Given the description of an element on the screen output the (x, y) to click on. 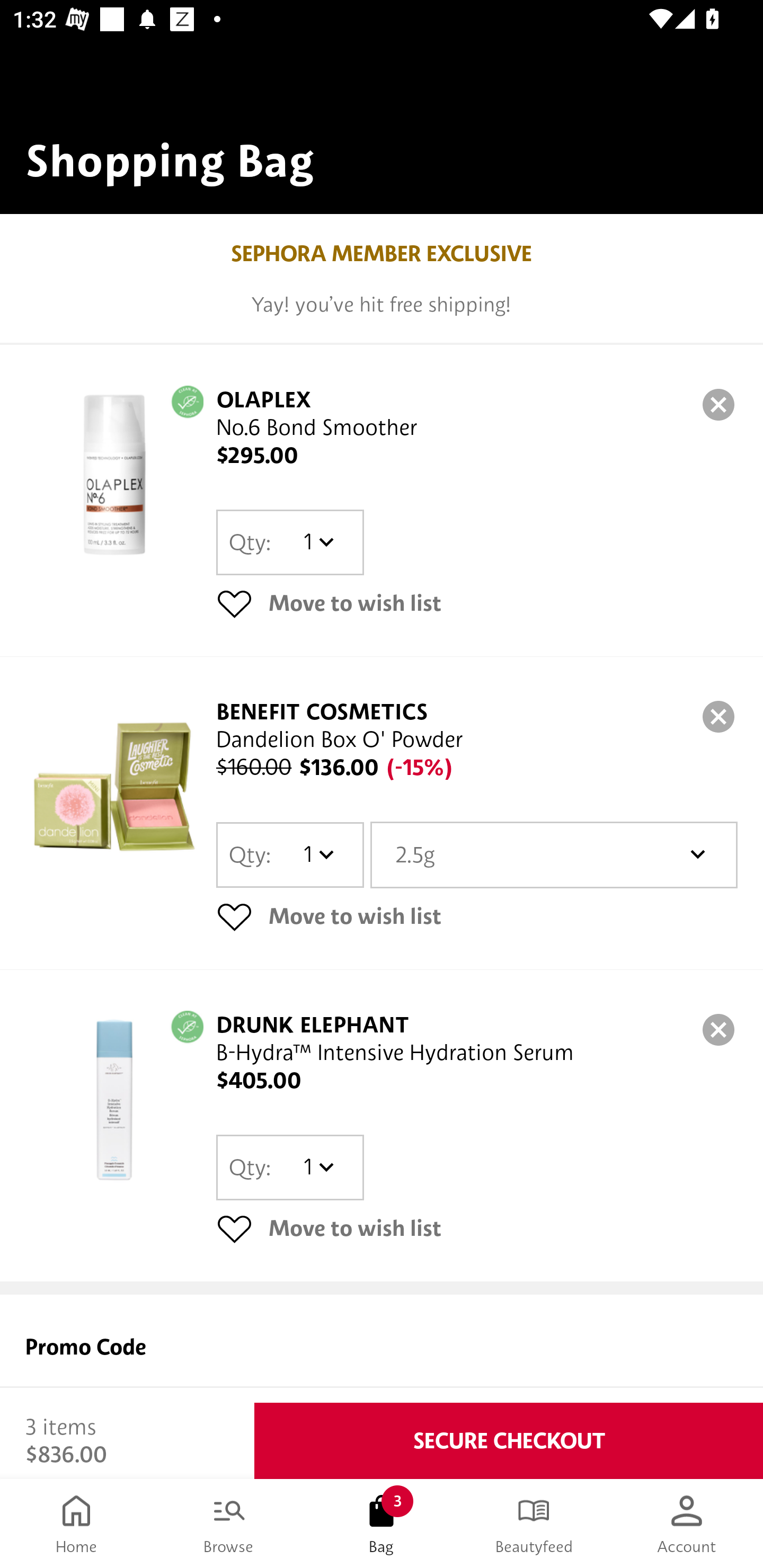
1 (317, 542)
Move to wish list (476, 602)
2.5g (553, 854)
1 (317, 854)
Move to wish list (476, 916)
1 (317, 1167)
Move to wish list (476, 1228)
Promo Code (381, 1349)
SECURE CHECKOUT (508, 1440)
Home (76, 1523)
Browse (228, 1523)
Beautyfeed (533, 1523)
Account (686, 1523)
